Given the description of an element on the screen output the (x, y) to click on. 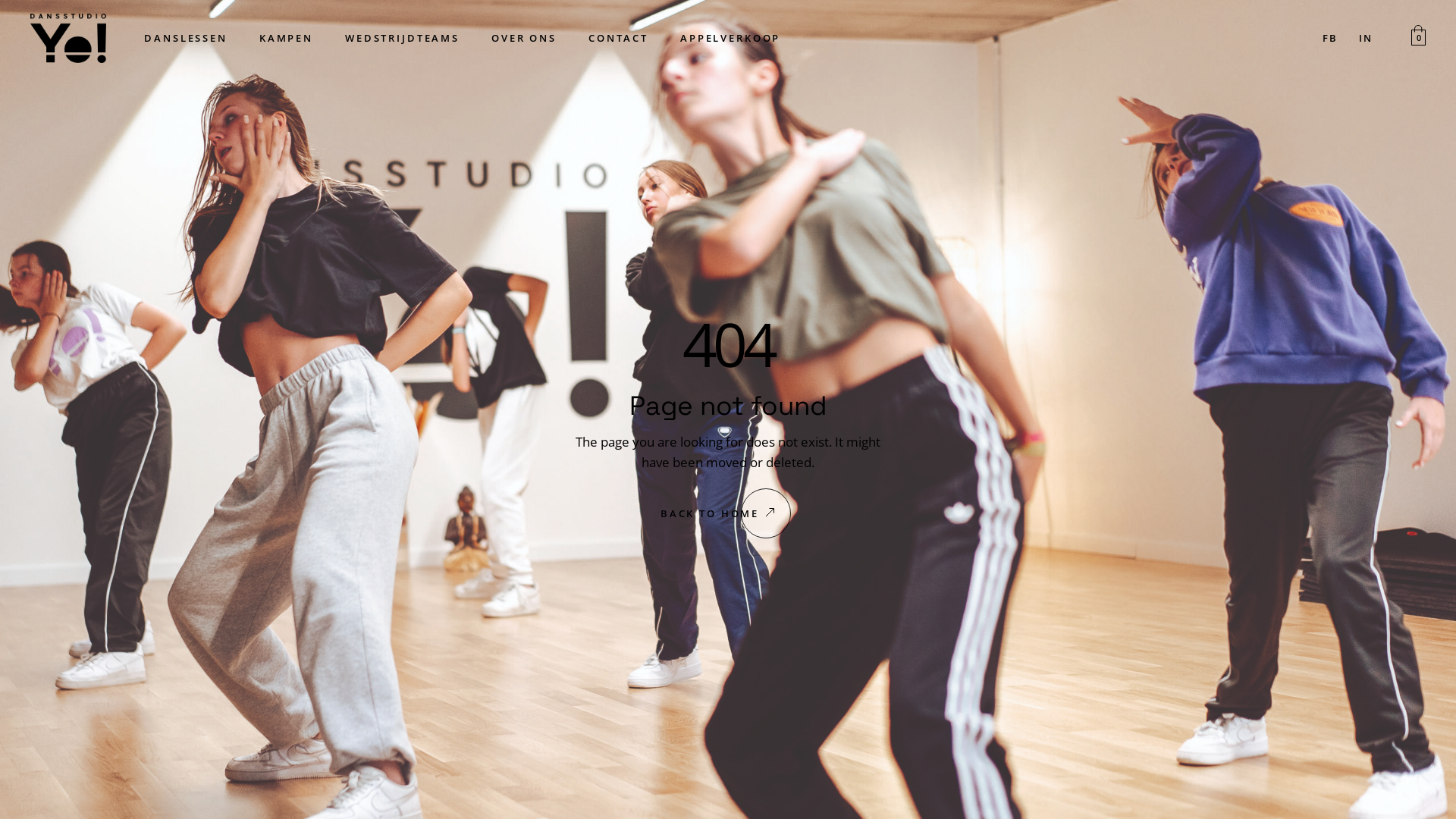
CONTACT Element type: text (618, 37)
0 Element type: text (1418, 38)
OVER ONS Element type: text (523, 37)
DANSLESSEN Element type: text (185, 37)
APPELVERKOOP Element type: text (730, 37)
KAMPEN Element type: text (286, 37)
BACK TO HOME Element type: text (727, 513)
FB Element type: text (1329, 37)
WEDSTRIJDTEAMS Element type: text (402, 37)
IN Element type: text (1364, 37)
